Given the description of an element on the screen output the (x, y) to click on. 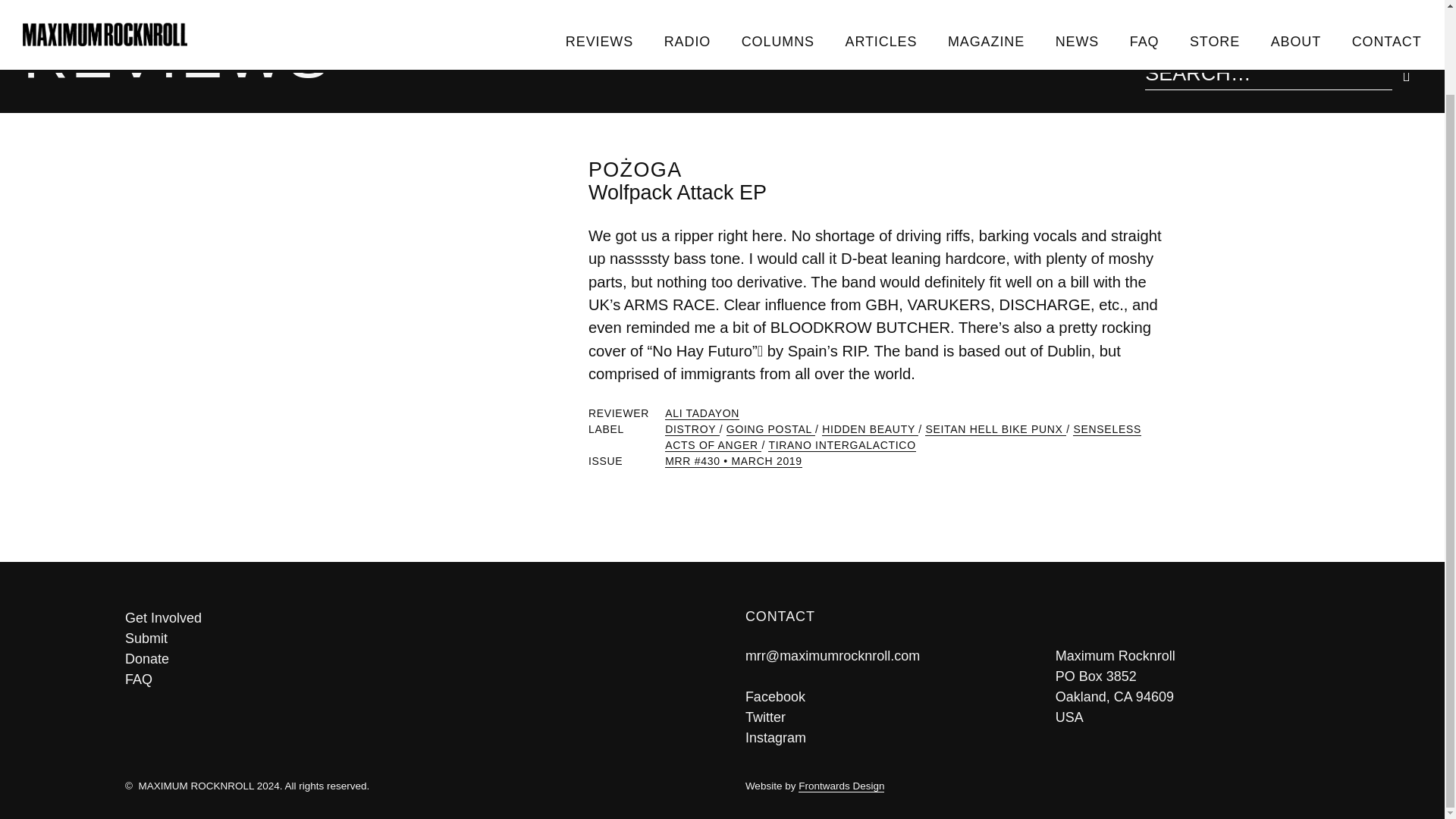
DISTROY (692, 429)
HIDDEN BEAUTY (870, 429)
Get Involved (411, 618)
Donate (411, 659)
ALI TADAYON (702, 413)
Facebook (775, 696)
GOING POSTAL (770, 429)
Twitter (765, 717)
SEITAN HELL BIKE PUNX (994, 429)
Submit (411, 638)
